Given the description of an element on the screen output the (x, y) to click on. 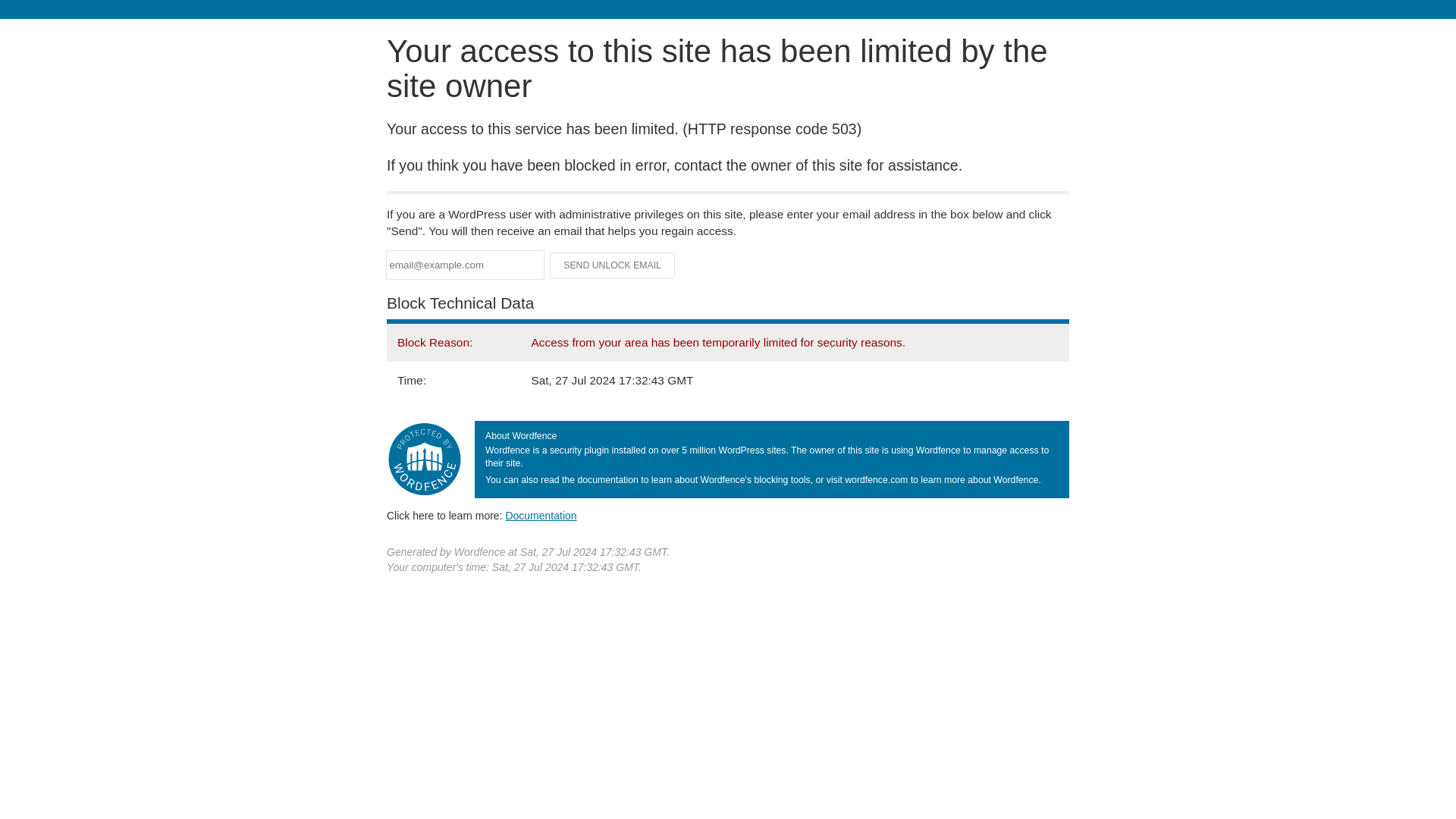
Send Unlock Email (612, 265)
Send Unlock Email (612, 265)
Documentation (540, 515)
